Given the description of an element on the screen output the (x, y) to click on. 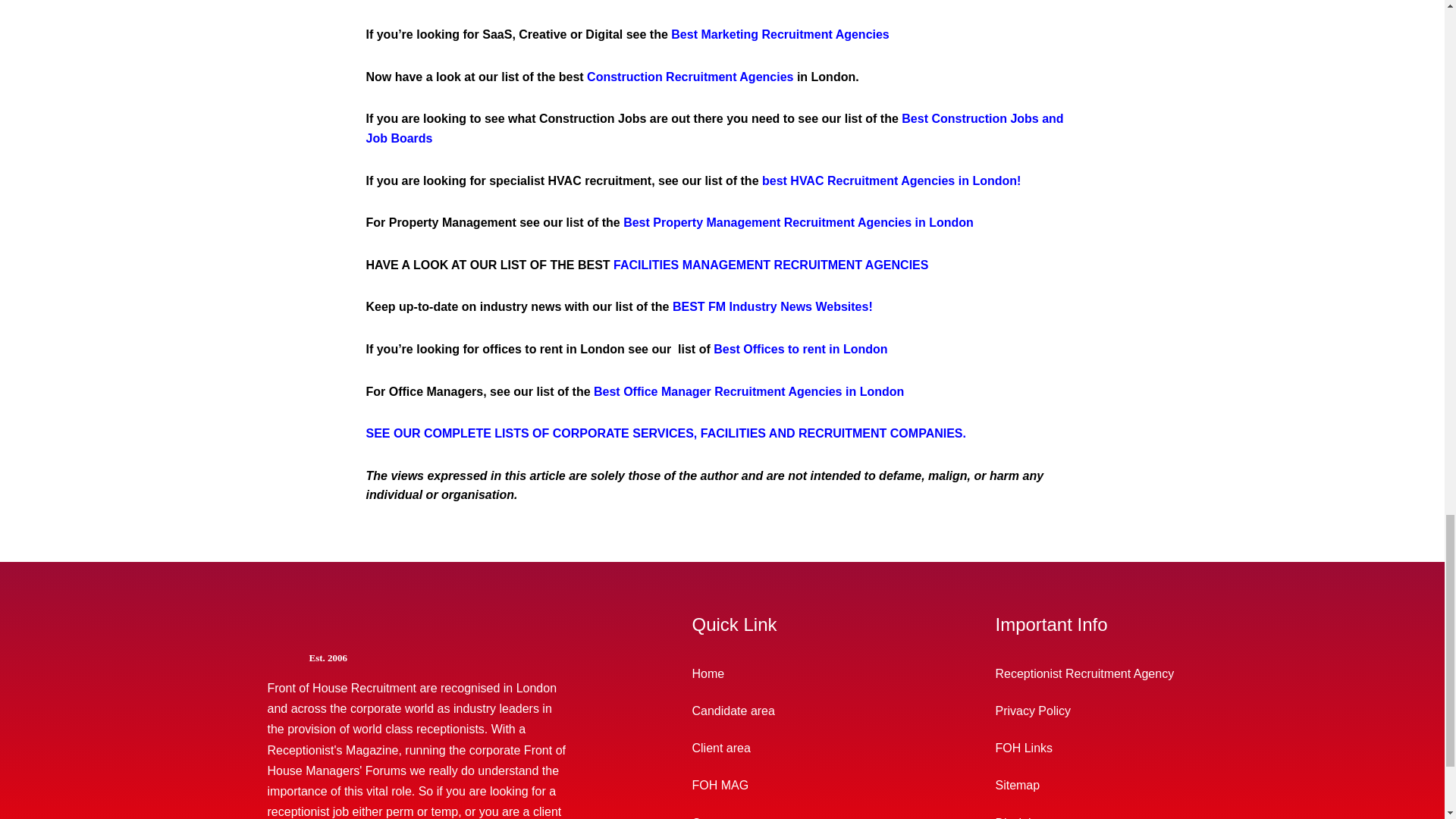
Best Office Manager Recruitment Agencies in London (749, 391)
Candidate area (782, 710)
Contact us (782, 811)
Home (782, 673)
best HVAC Recruitment Agencies in London! (890, 180)
Best Offices to rent in London (799, 349)
FOH MAG (782, 784)
Best Property Management Recruitment Agencies in London (798, 222)
Est. 2006 (439, 657)
BEST FM Industry News Websites! (772, 306)
Best Construction Jobs and Job Boards (713, 128)
FACILITIES MANAGEMENT RECRUITMENT AGENCIES (770, 264)
Client area (782, 747)
Construction Recruitment Agencies (689, 76)
